Given the description of an element on the screen output the (x, y) to click on. 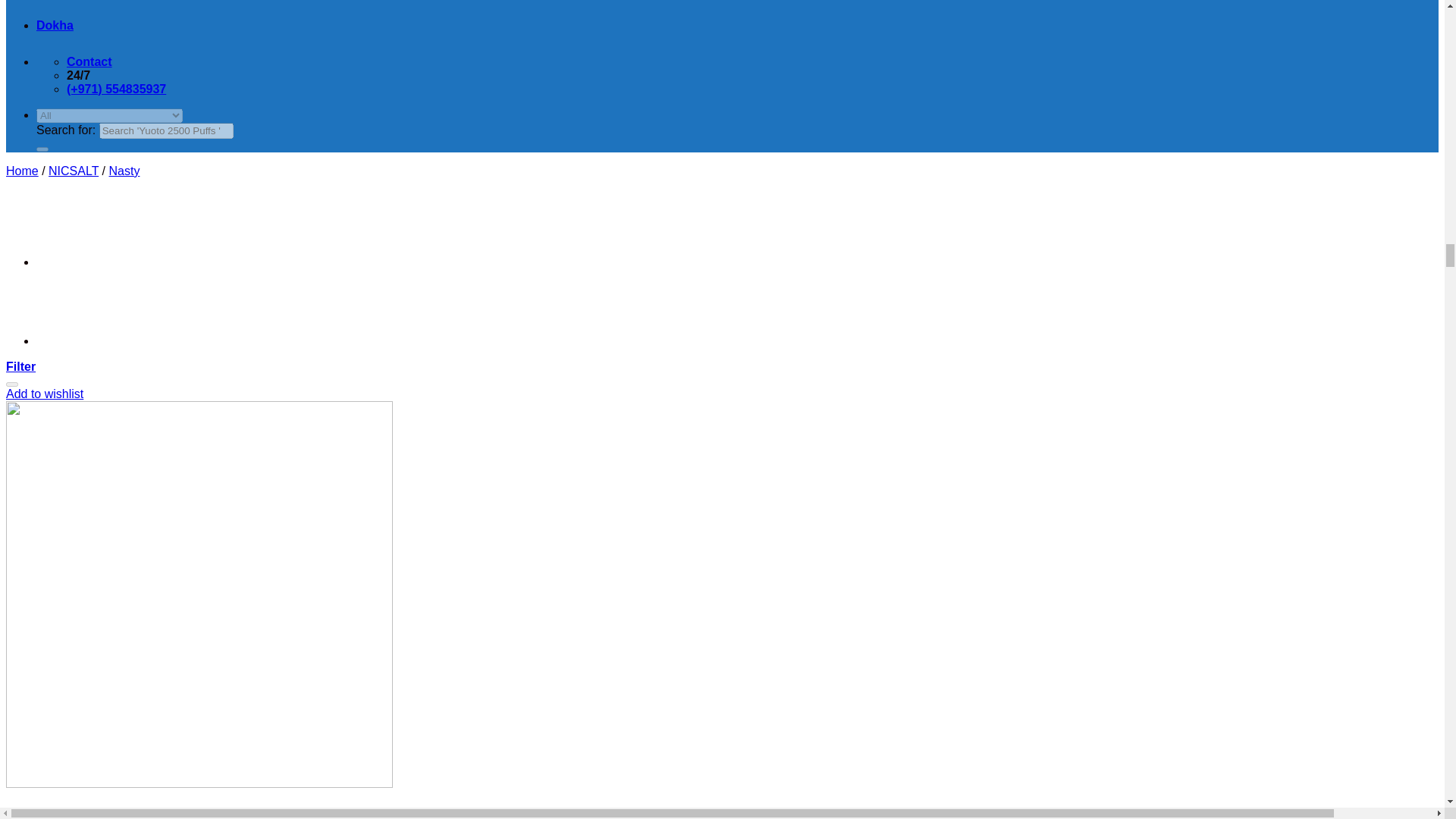
NASTY JUICE BAD BLOOD 60ML NICOTINE 3MG (74, 340)
